Given the description of an element on the screen output the (x, y) to click on. 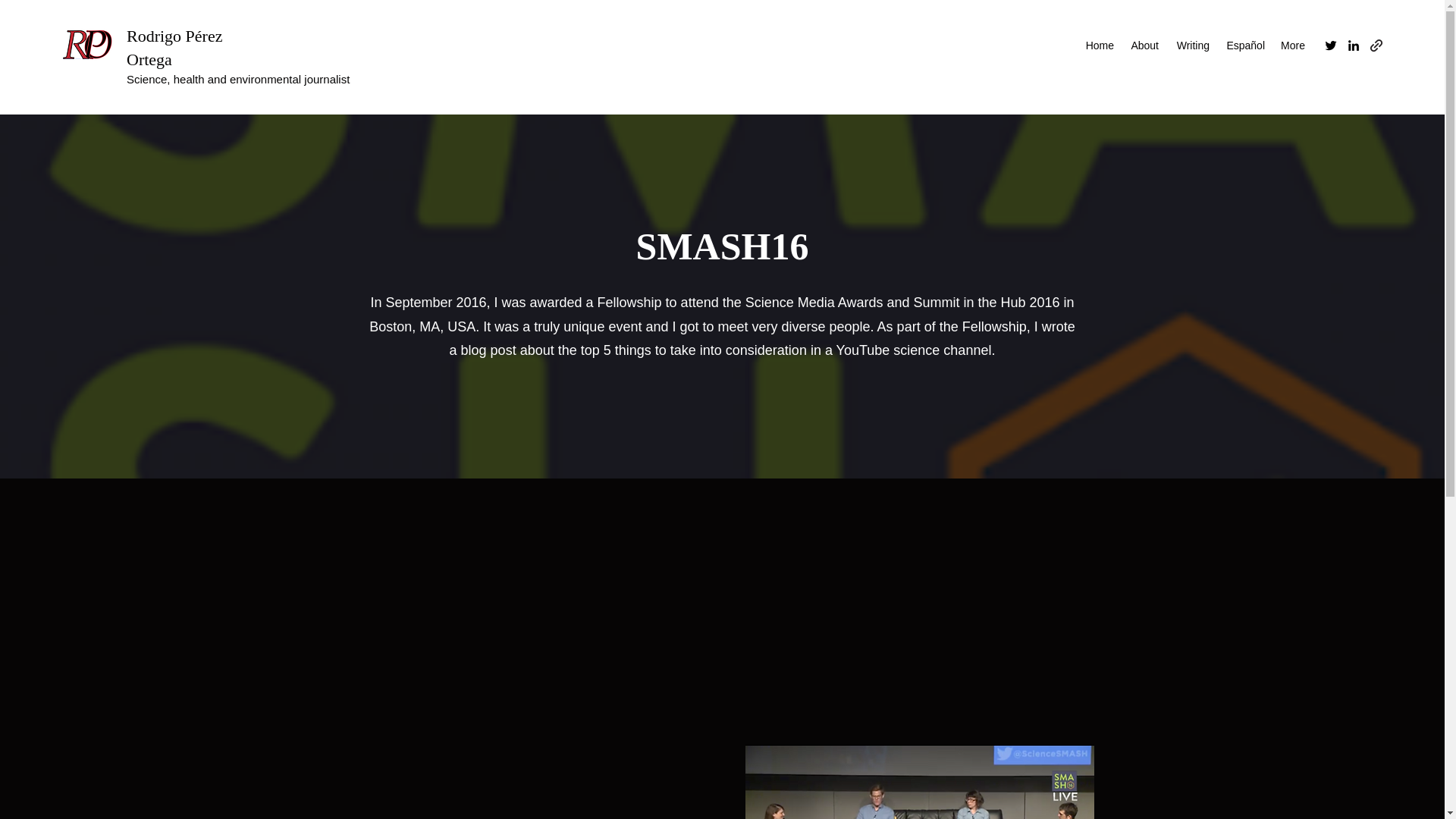
Writing (1191, 45)
Home (1099, 45)
About (1143, 45)
